Given the description of an element on the screen output the (x, y) to click on. 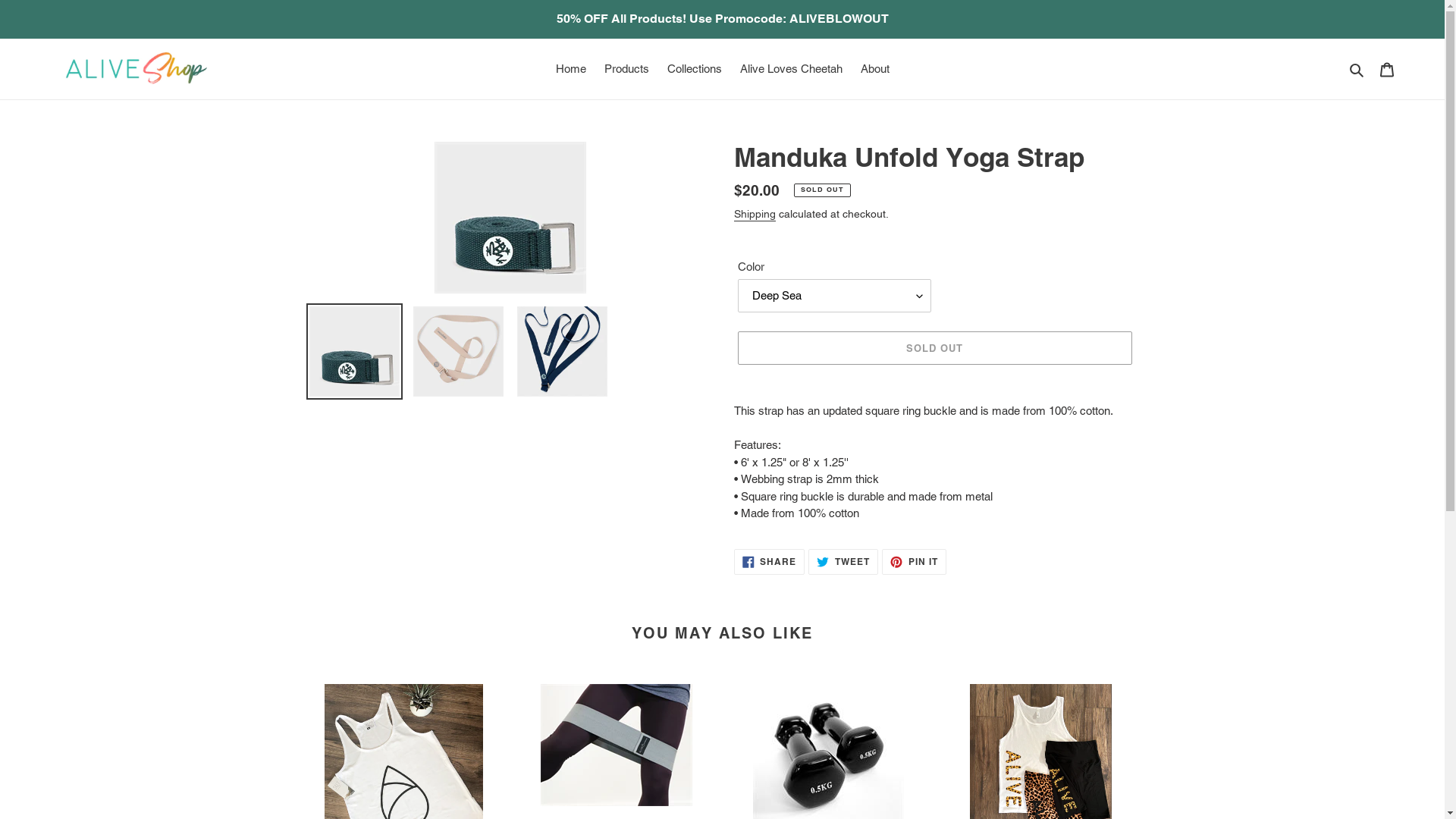
SOLD OUT Element type: text (934, 347)
Cart Element type: text (1386, 69)
SHARE
SHARE ON FACEBOOK Element type: text (769, 561)
Products Element type: text (625, 69)
TWEET
TWEET ON TWITTER Element type: text (843, 561)
Search Element type: text (1357, 68)
Alive Loves Cheetah Element type: text (791, 69)
Home Element type: text (570, 69)
PIN IT
PIN ON PINTEREST Element type: text (913, 561)
Shipping Element type: text (754, 214)
About Element type: text (874, 69)
Collections Element type: text (694, 69)
